Given the description of an element on the screen output the (x, y) to click on. 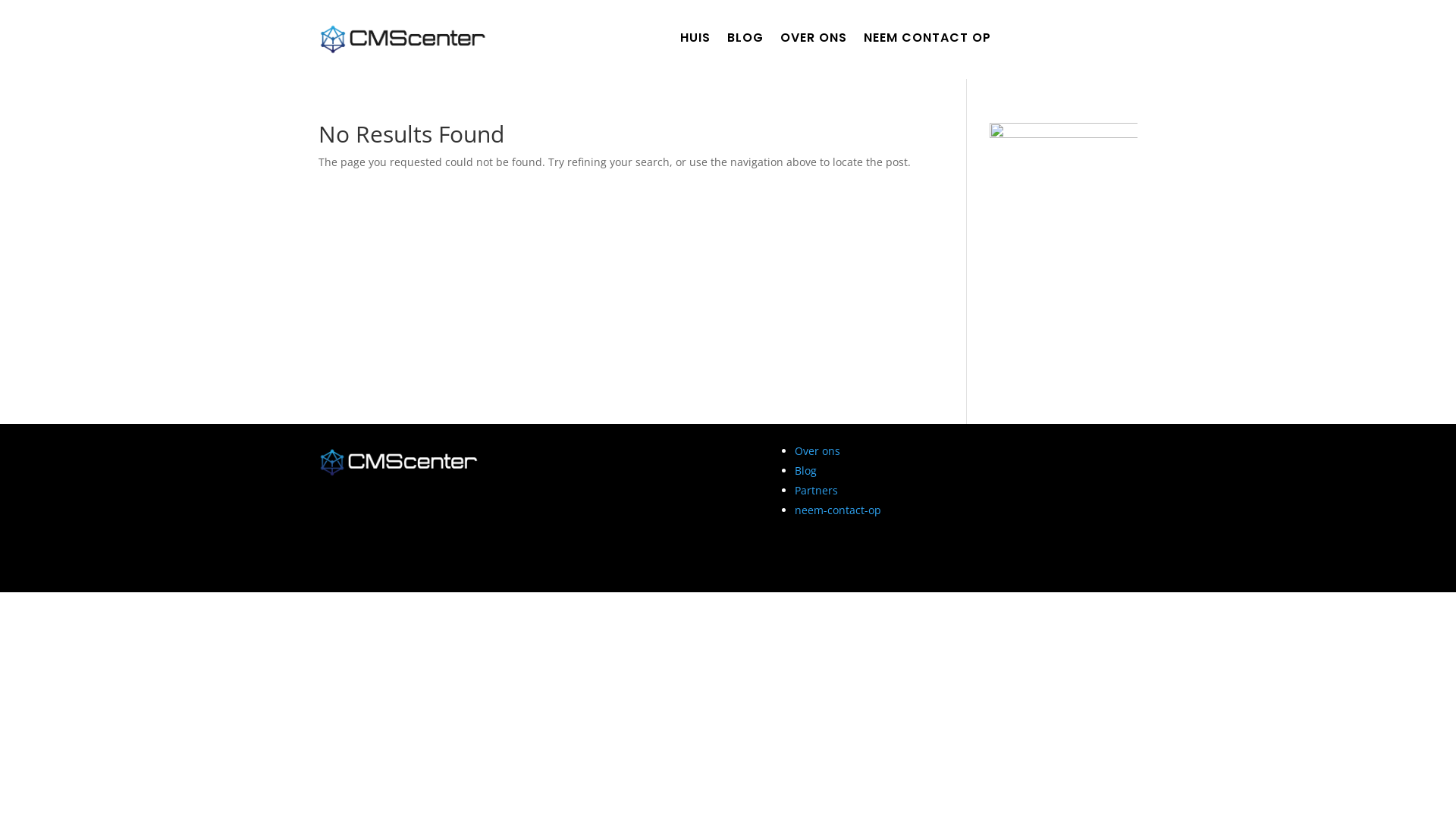
Blog Element type: text (805, 470)
OVER ONS Element type: text (813, 40)
neem-contact-op Element type: text (837, 509)
BLOG Element type: text (745, 40)
Partners Element type: text (815, 490)
HUIS Element type: text (695, 40)
NEEM CONTACT OP Element type: text (927, 40)
Over ons Element type: text (817, 450)
